Given the description of an element on the screen output the (x, y) to click on. 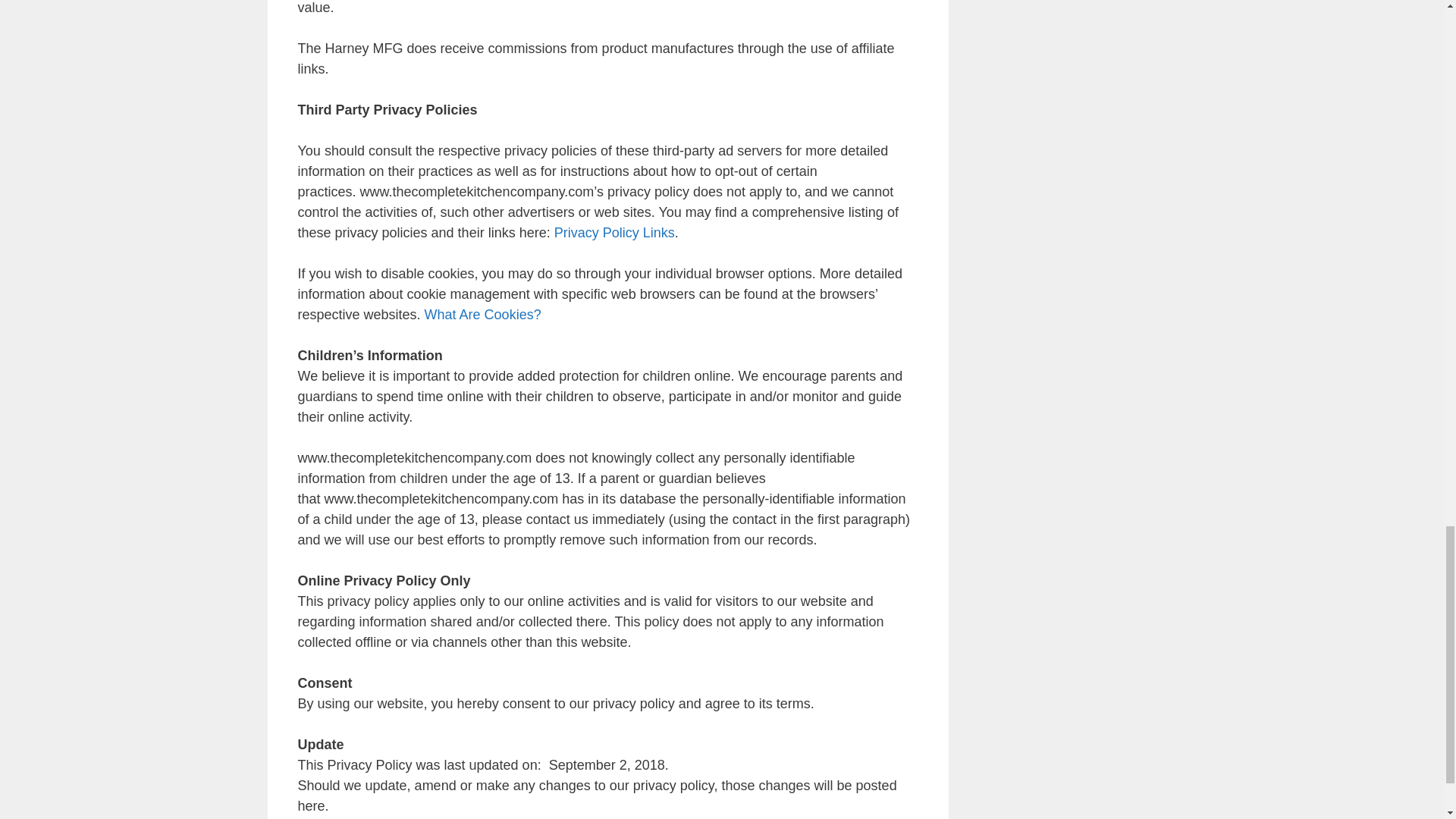
Privacy Policy Links (614, 232)
What Are Cookies? (483, 314)
Privacy Policy Links (614, 232)
